Given the description of an element on the screen output the (x, y) to click on. 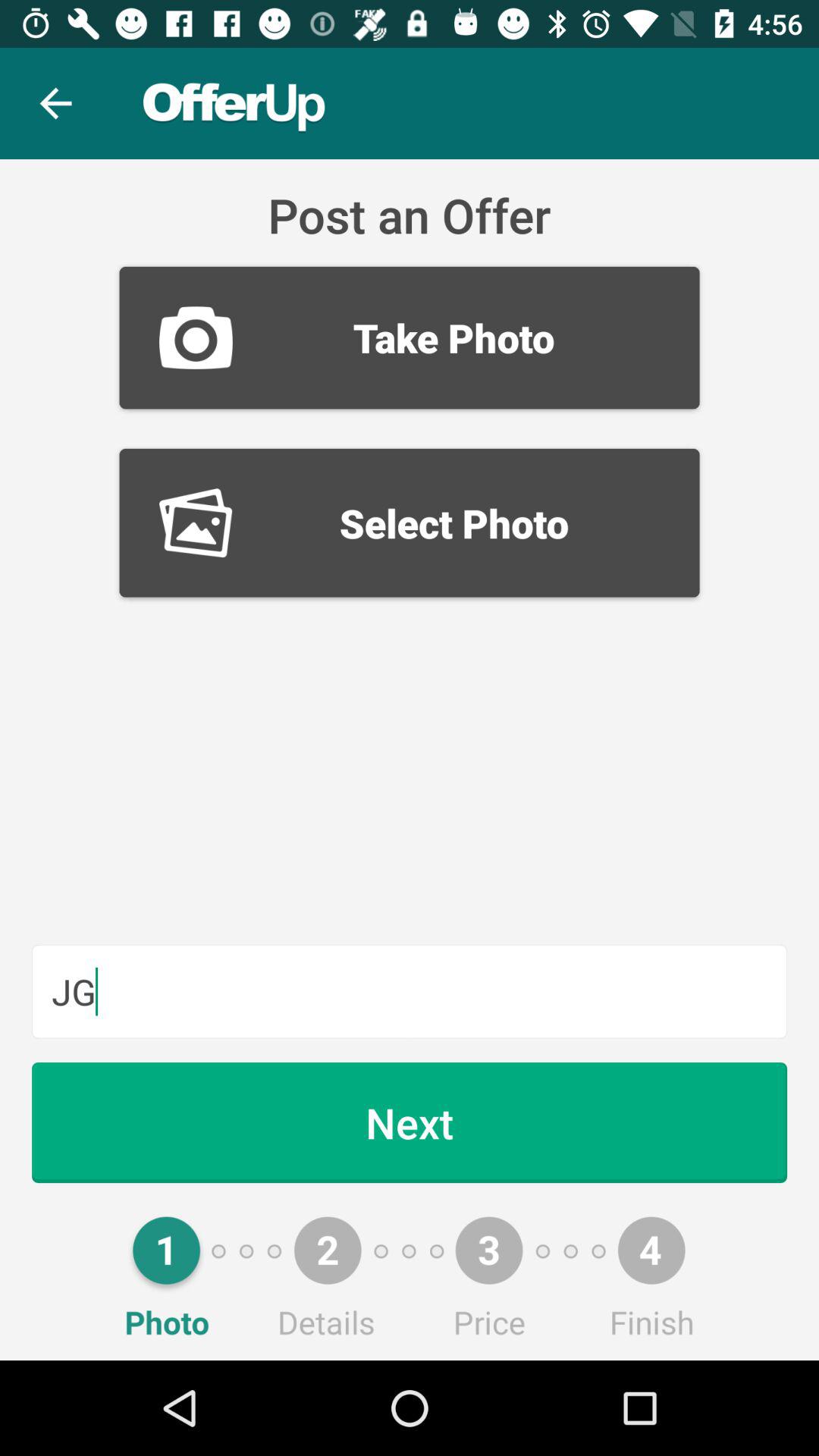
turn off item below take photo (409, 522)
